Given the description of an element on the screen output the (x, y) to click on. 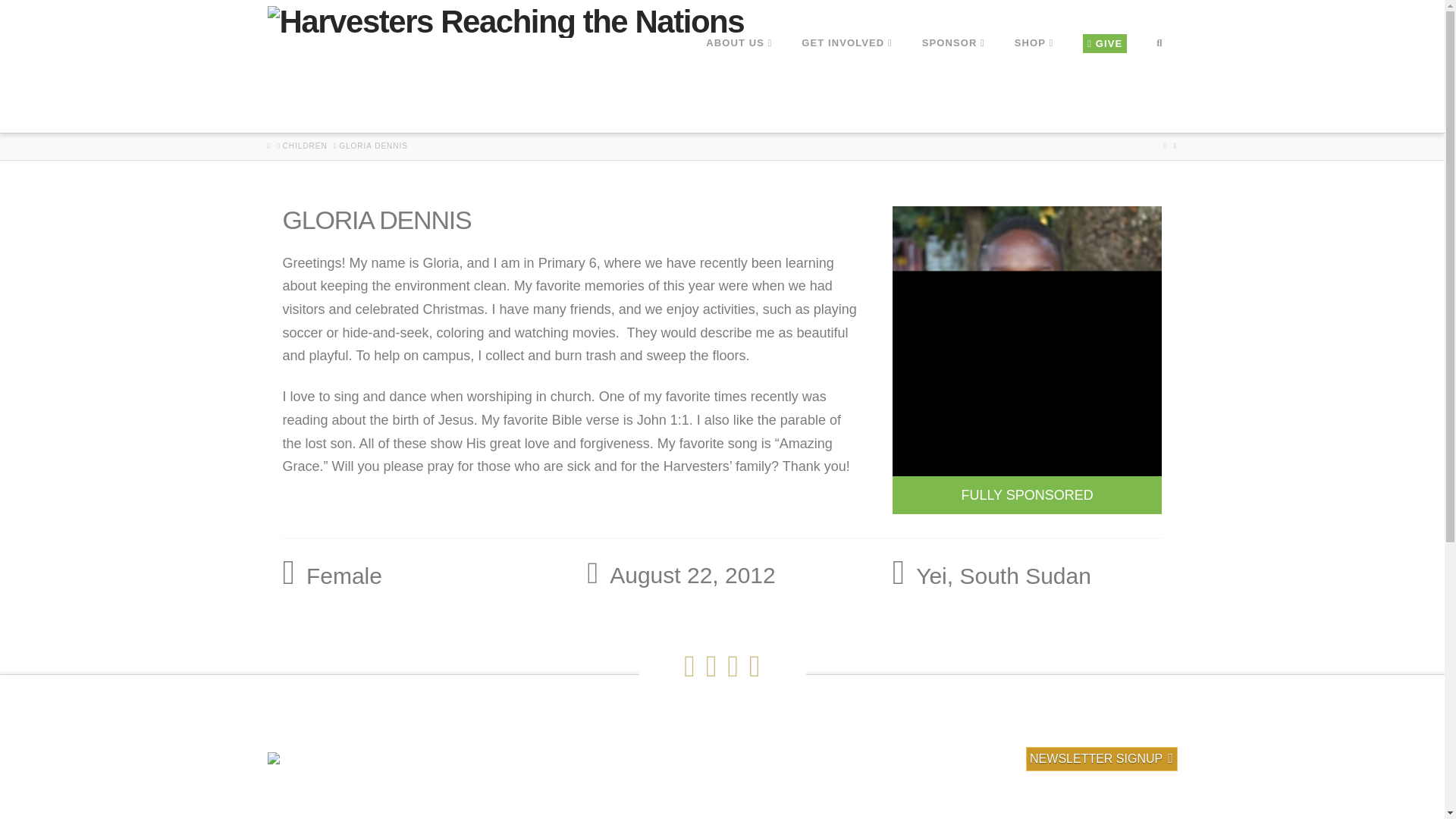
GET INVOLVED (845, 84)
YouTube (733, 666)
You Are Here (373, 145)
SHOP (1033, 84)
Facebook (689, 666)
SPONSOR (952, 84)
ABOUT US (738, 84)
Twitter (711, 666)
Instagram (754, 666)
